Given the description of an element on the screen output the (x, y) to click on. 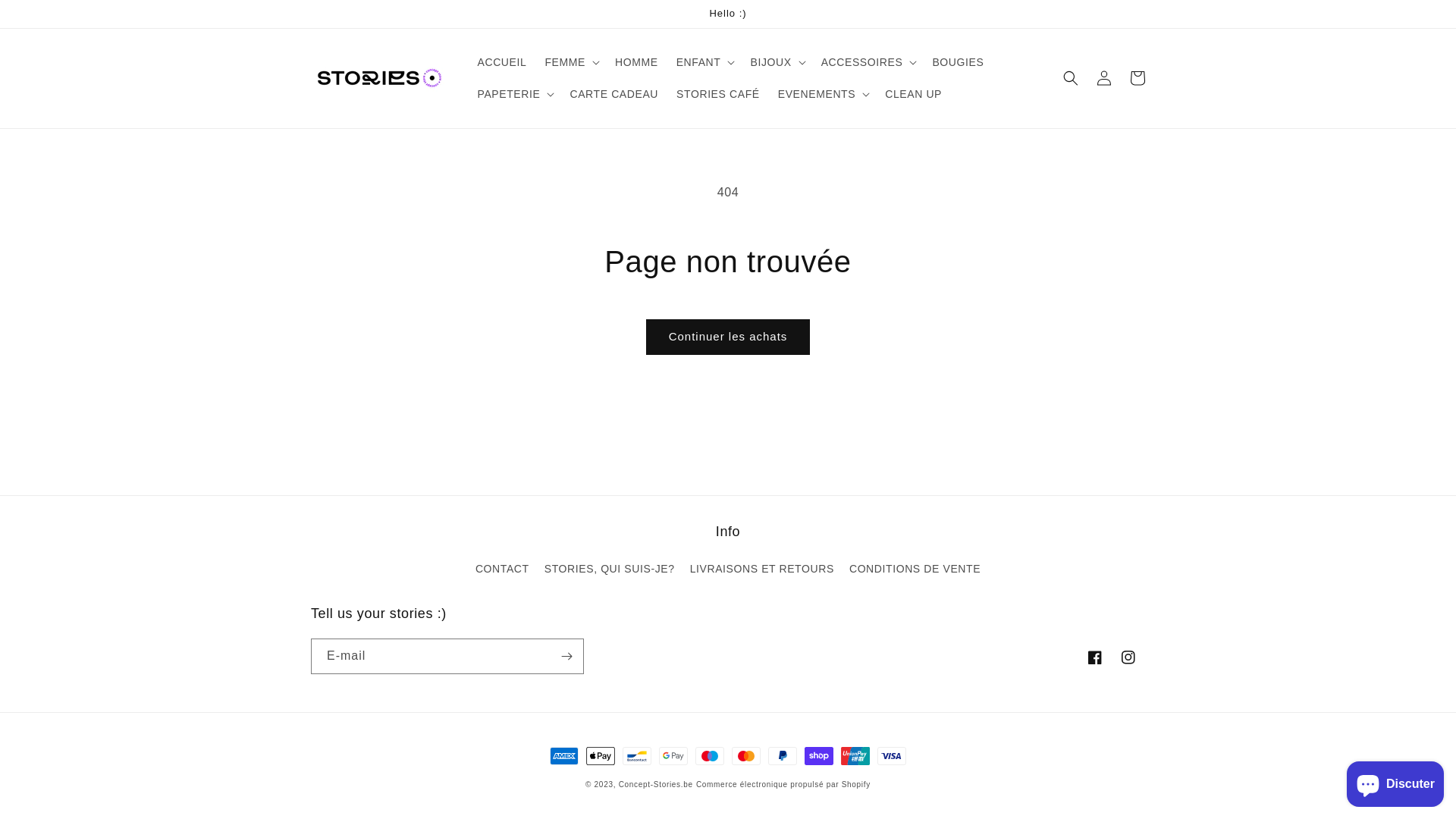
LIVRAISONS ET RETOURS Element type: text (762, 568)
Facebook Element type: text (1094, 657)
ACCUEIL Element type: text (502, 62)
Concept-Stories.be Element type: text (655, 784)
HOMME Element type: text (636, 62)
CONDITIONS DE VENTE Element type: text (914, 568)
Instagram Element type: text (1128, 657)
Chat de la boutique en ligne Shopify Element type: hover (1395, 780)
CLEAN UP Element type: text (912, 93)
Continuer les achats Element type: text (728, 336)
CONTACT Element type: text (502, 570)
STORIES, QUI SUIS-JE? Element type: text (609, 568)
BOUGIES Element type: text (957, 62)
Panier Element type: text (1137, 77)
Connexion Element type: text (1103, 77)
CARTE CADEAU Element type: text (613, 93)
